Given the description of an element on the screen output the (x, y) to click on. 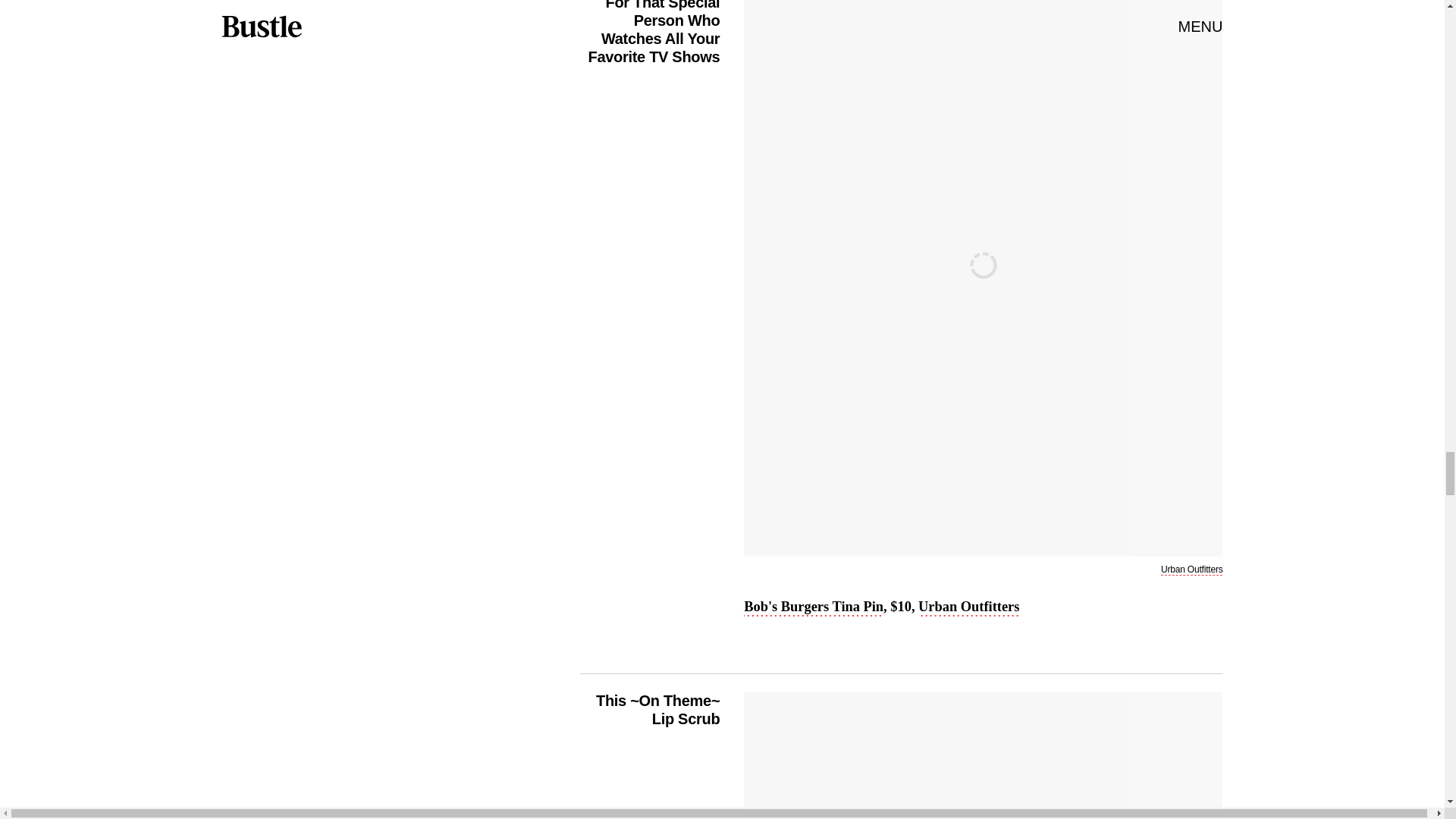
Urban Outfitters (968, 607)
Urban Outfitters (1191, 569)
Bob's Burgers Tina Pin (813, 607)
